Given the description of an element on the screen output the (x, y) to click on. 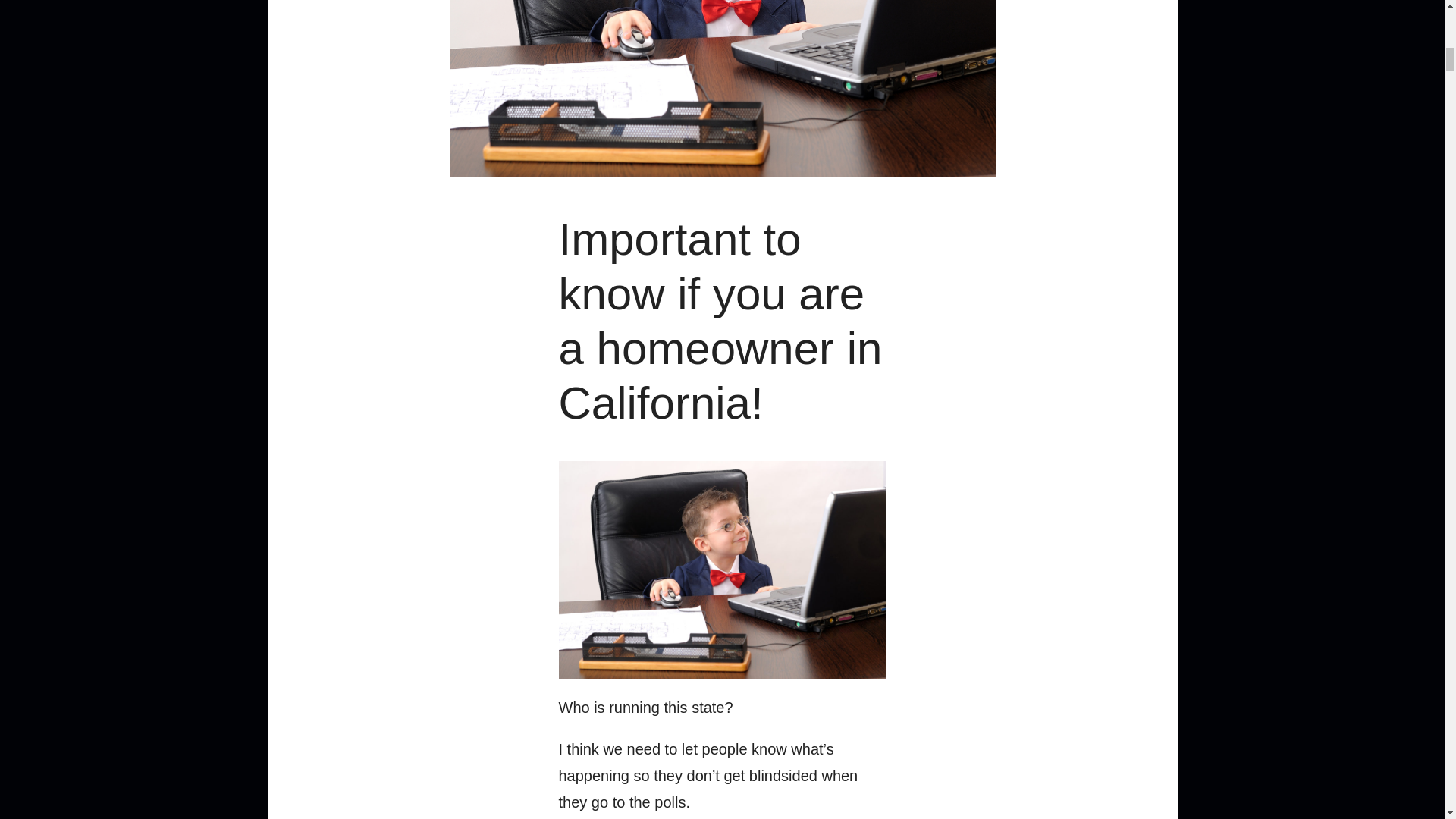
Important to know if you are a homeowner in California! (719, 320)
